Given the description of an element on the screen output the (x, y) to click on. 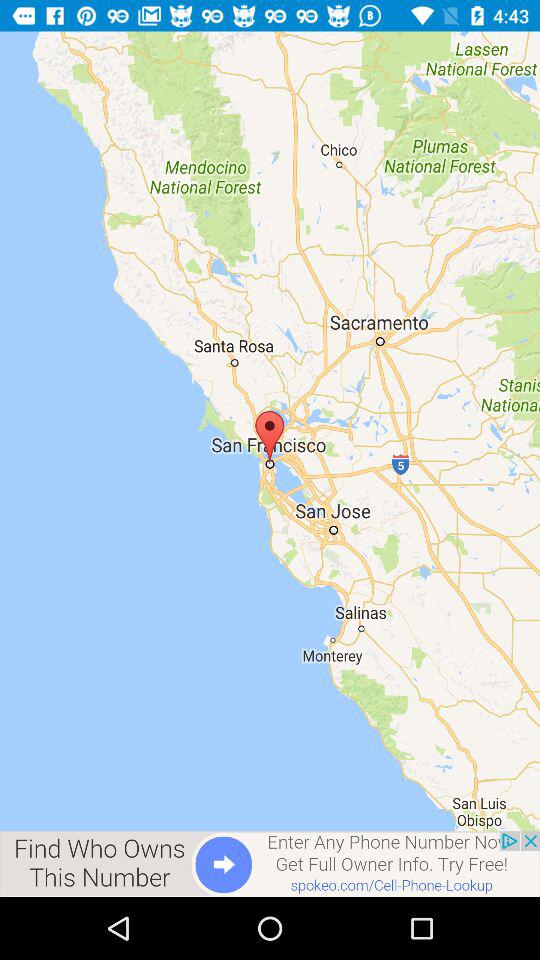
advertisement for phone numbers (270, 864)
